Given the description of an element on the screen output the (x, y) to click on. 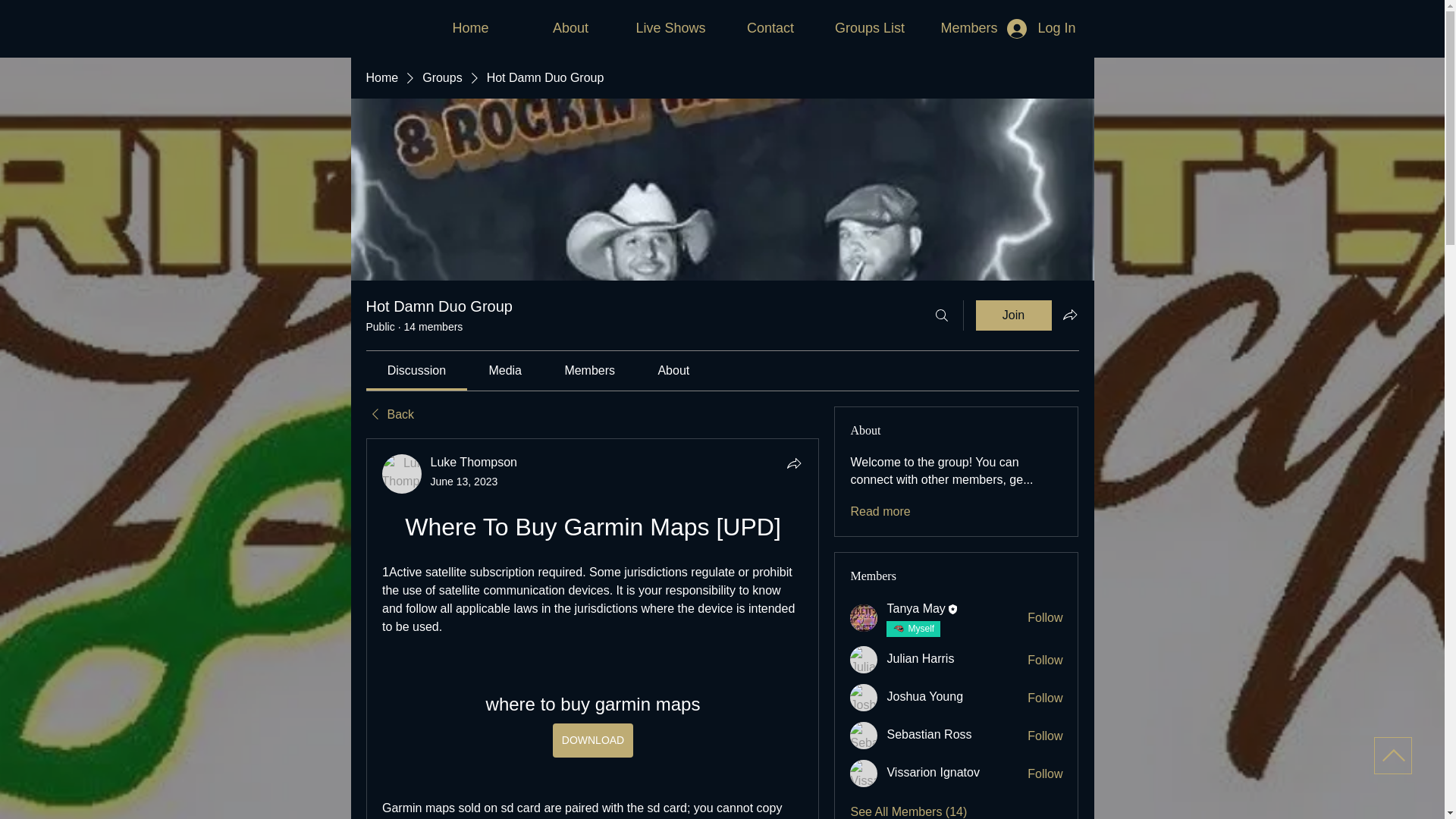
Groups List (870, 27)
Live Shows (670, 27)
Read more (880, 511)
DOWNLOAD (591, 740)
Different than ALL others!! (920, 628)
Sebastian Ross (863, 735)
Tanya May (915, 608)
Contact (769, 27)
June 13, 2023 (463, 481)
Log In (1040, 27)
